Given the description of an element on the screen output the (x, y) to click on. 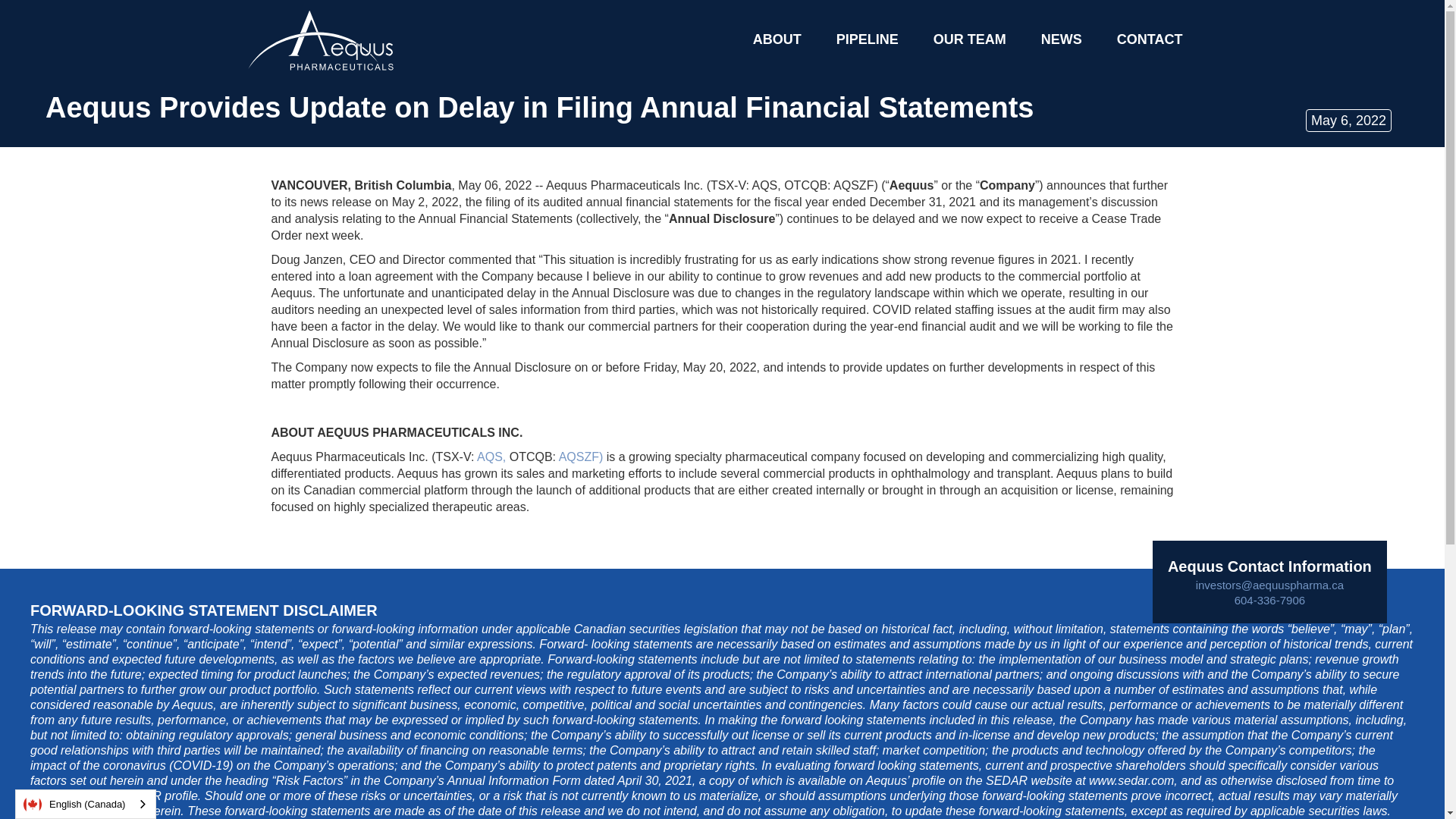
ABOUT Element type: text (776, 39)
English (Canada) Element type: text (85, 804)
AQS Element type: text (489, 456)
AQSZF) Element type: text (578, 456)
investors@aequuspharma.ca Element type: text (1269, 584)
OUR TEAM Element type: text (969, 39)
, Element type: text (503, 456)
NEWS Element type: text (1061, 39)
PIPELINE Element type: text (867, 39)
604-336-7906 Element type: text (1269, 599)
CONTACT Element type: text (1149, 39)
